Given the description of an element on the screen output the (x, y) to click on. 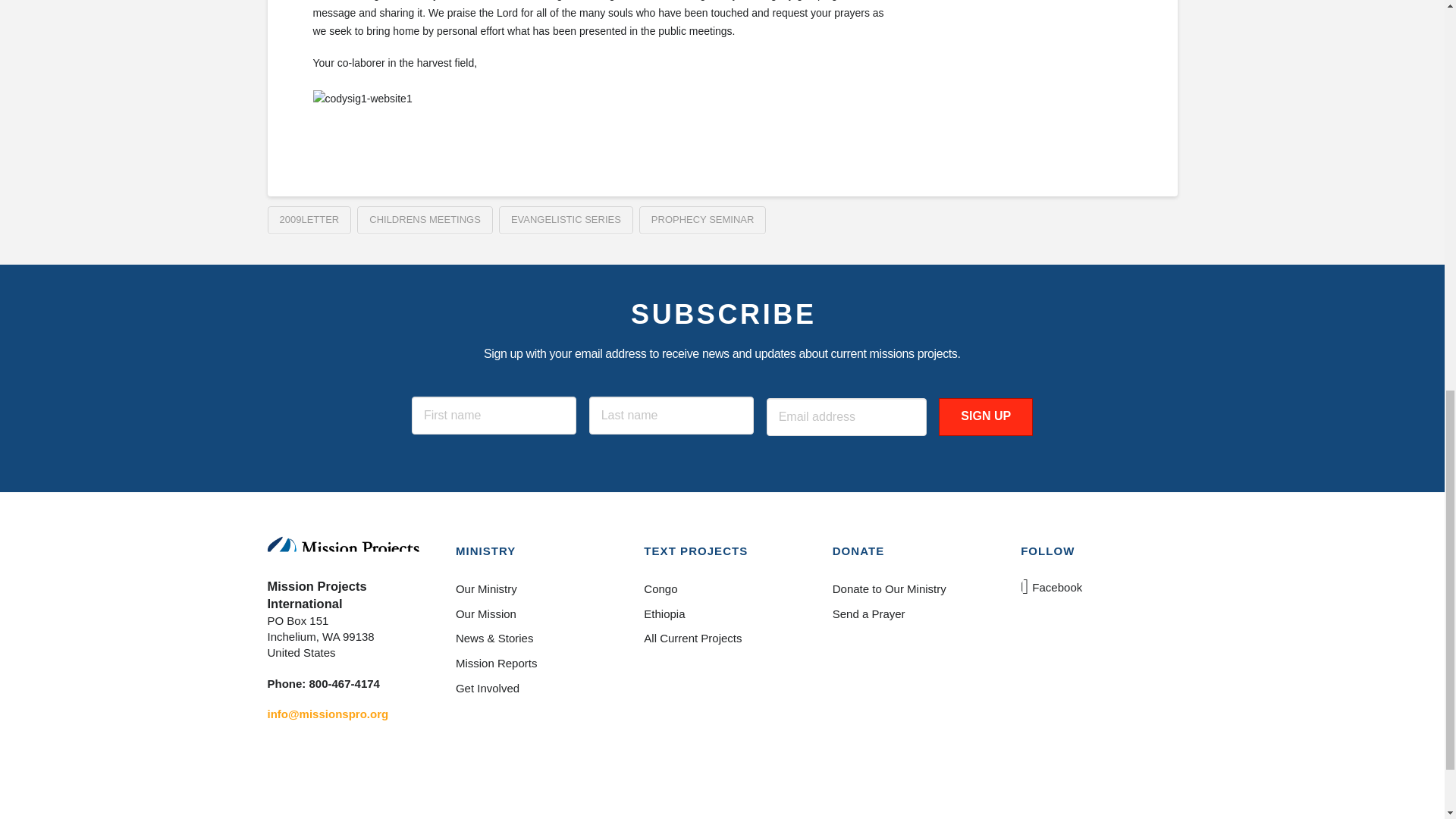
Our Mission (533, 613)
codysig1-website1 (363, 118)
Sign Up (985, 416)
dscn0546-letter (1017, 11)
Get Involved (533, 688)
Sign Up (985, 416)
Ethiopia (721, 613)
Congo (721, 588)
Our Ministry (533, 588)
Phone: 800-467-4174 (322, 683)
Facebook (1053, 586)
CHILDRENS MEETINGS (424, 220)
PROPHECY SEMINAR (703, 220)
Send a Prayer (910, 613)
Mission Reports (533, 663)
